Given the description of an element on the screen output the (x, y) to click on. 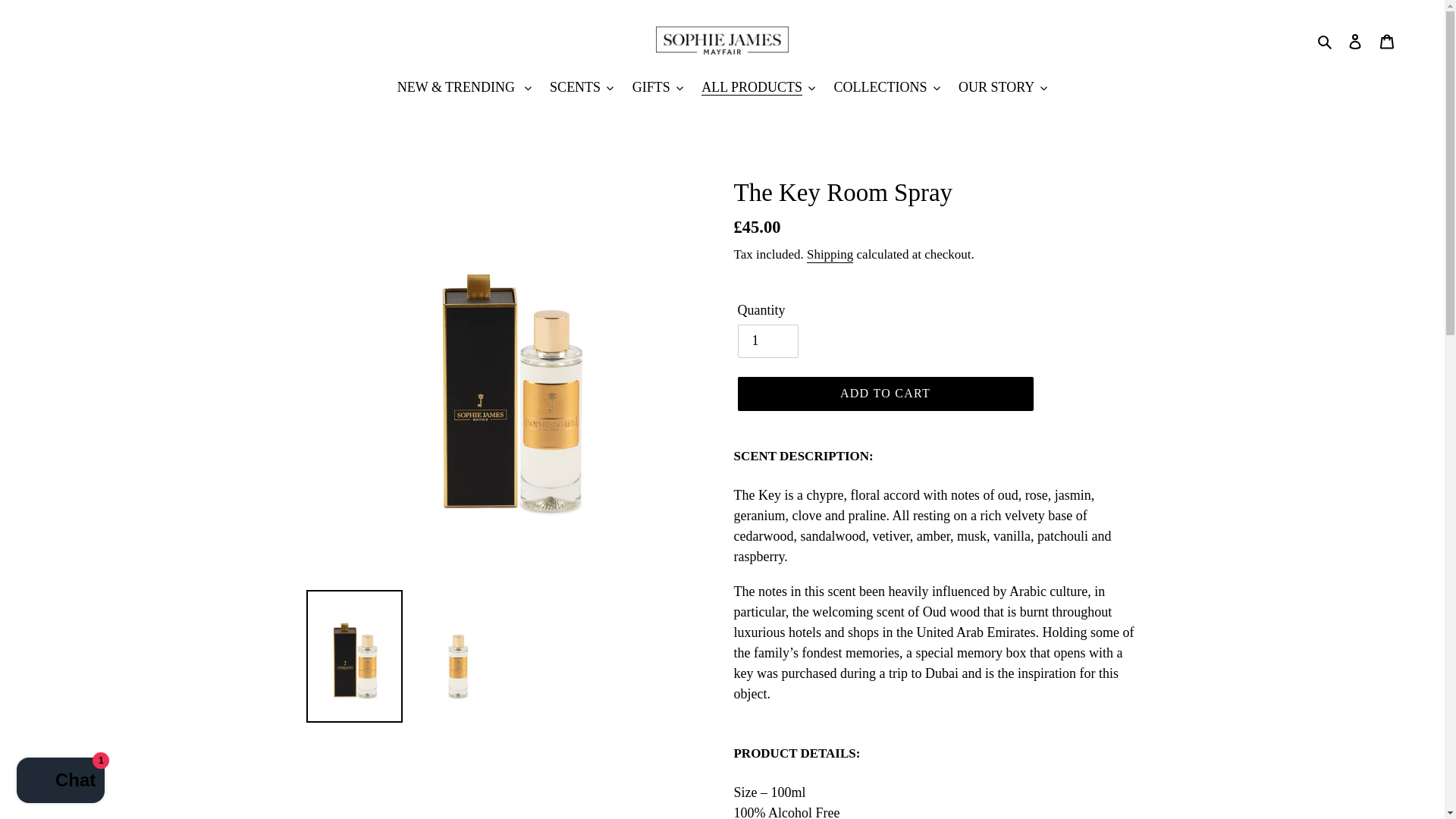
Search (1326, 40)
1 (766, 340)
Cart (1387, 40)
Shopify online store chat (60, 781)
Log in (1355, 40)
